Given the description of an element on the screen output the (x, y) to click on. 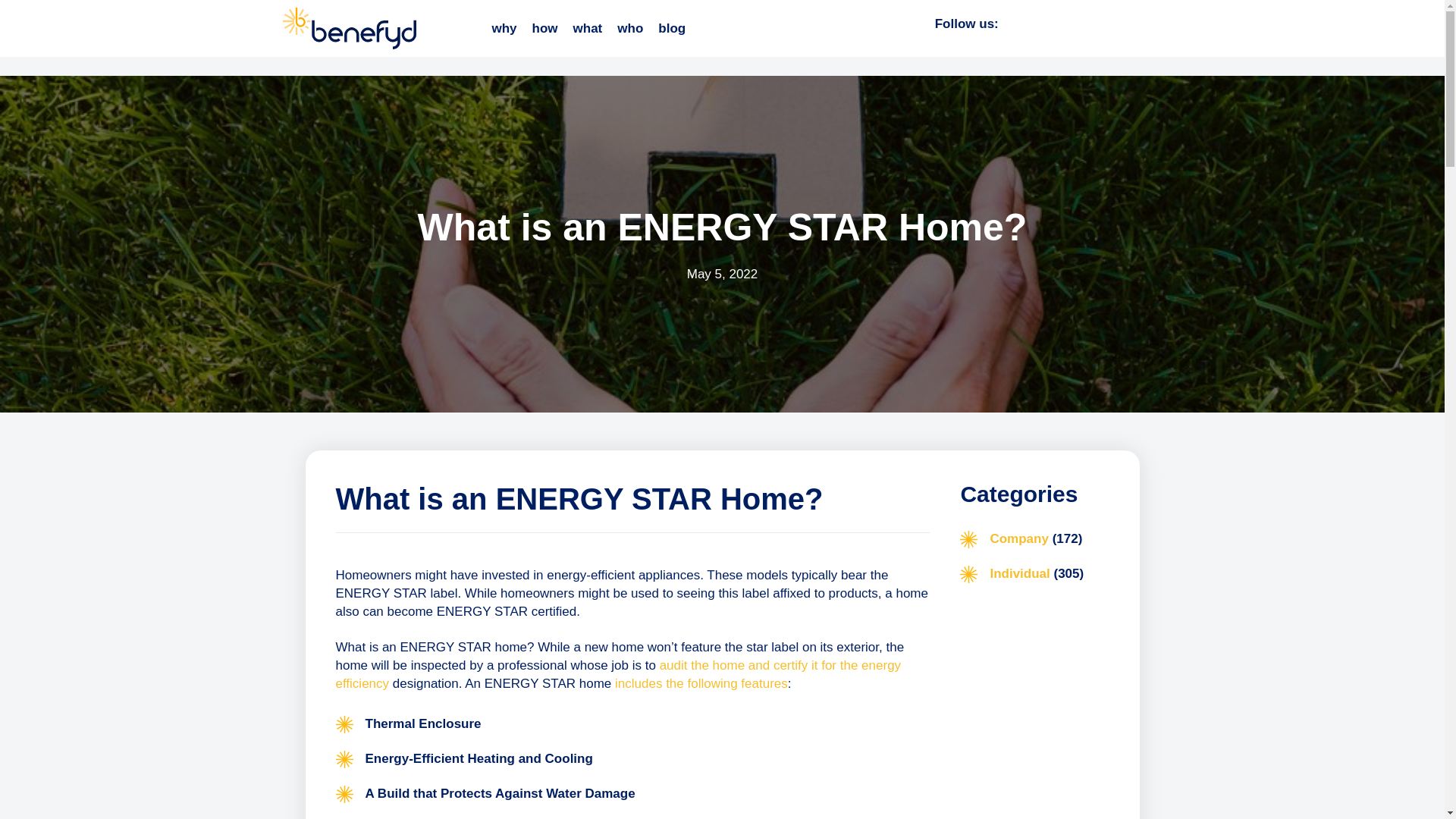
Company (1019, 538)
Individual (1019, 573)
audit the home and certify it for the energy efficiency (617, 674)
includes the following features (700, 683)
